Given the description of an element on the screen output the (x, y) to click on. 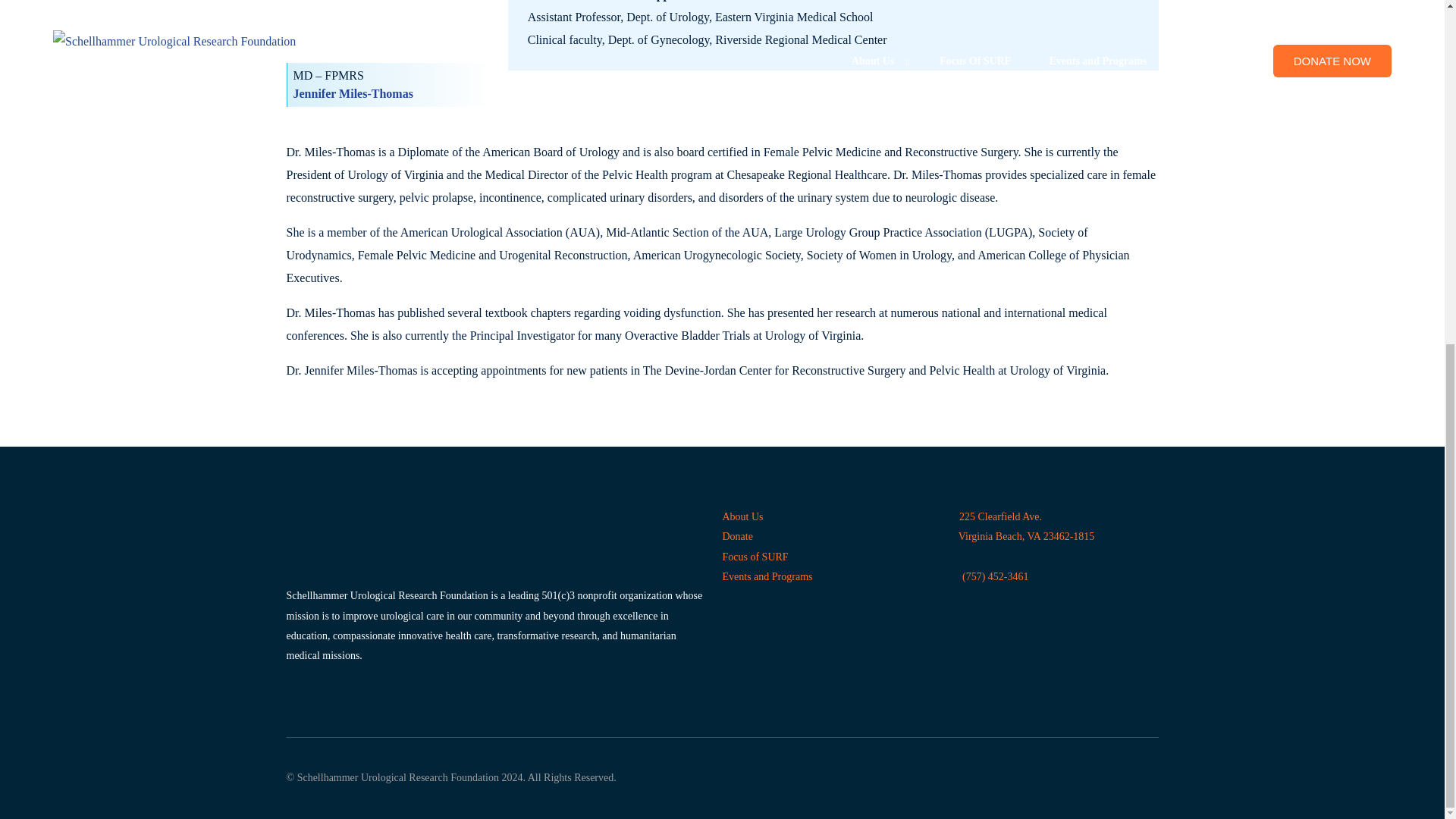
Events and Programs (767, 576)
Donate (737, 536)
Focus of SURF (754, 556)
About Us (742, 516)
Jennifer Miles-Thomas (352, 92)
